Given the description of an element on the screen output the (x, y) to click on. 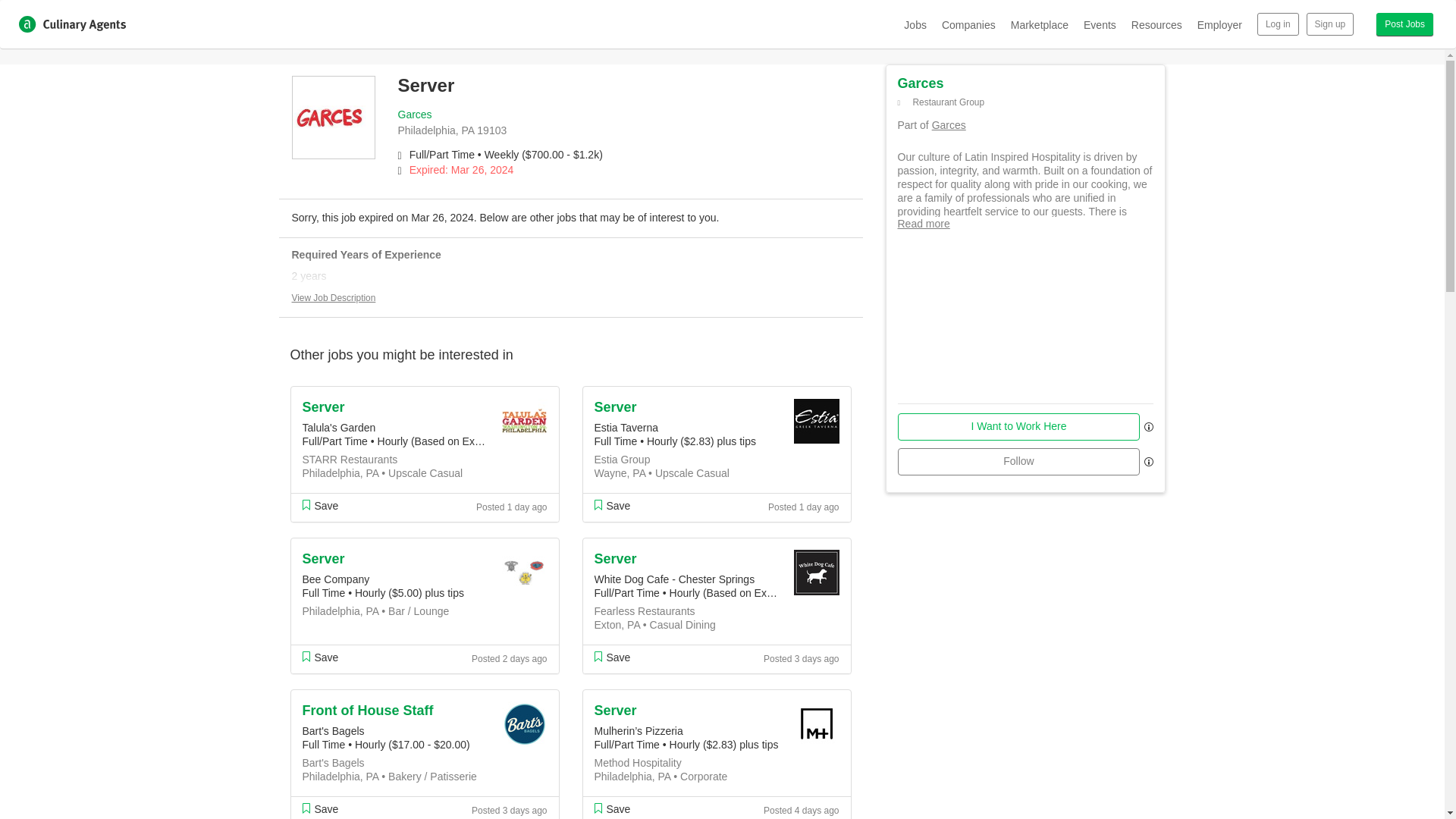
Save (319, 808)
Garces (413, 114)
Post Jobs (1403, 24)
Log in (1277, 24)
Save (319, 505)
Sign up (1330, 24)
Employer (1218, 24)
Marketplace (1039, 24)
Companies (968, 24)
Save (319, 657)
